Given the description of an element on the screen output the (x, y) to click on. 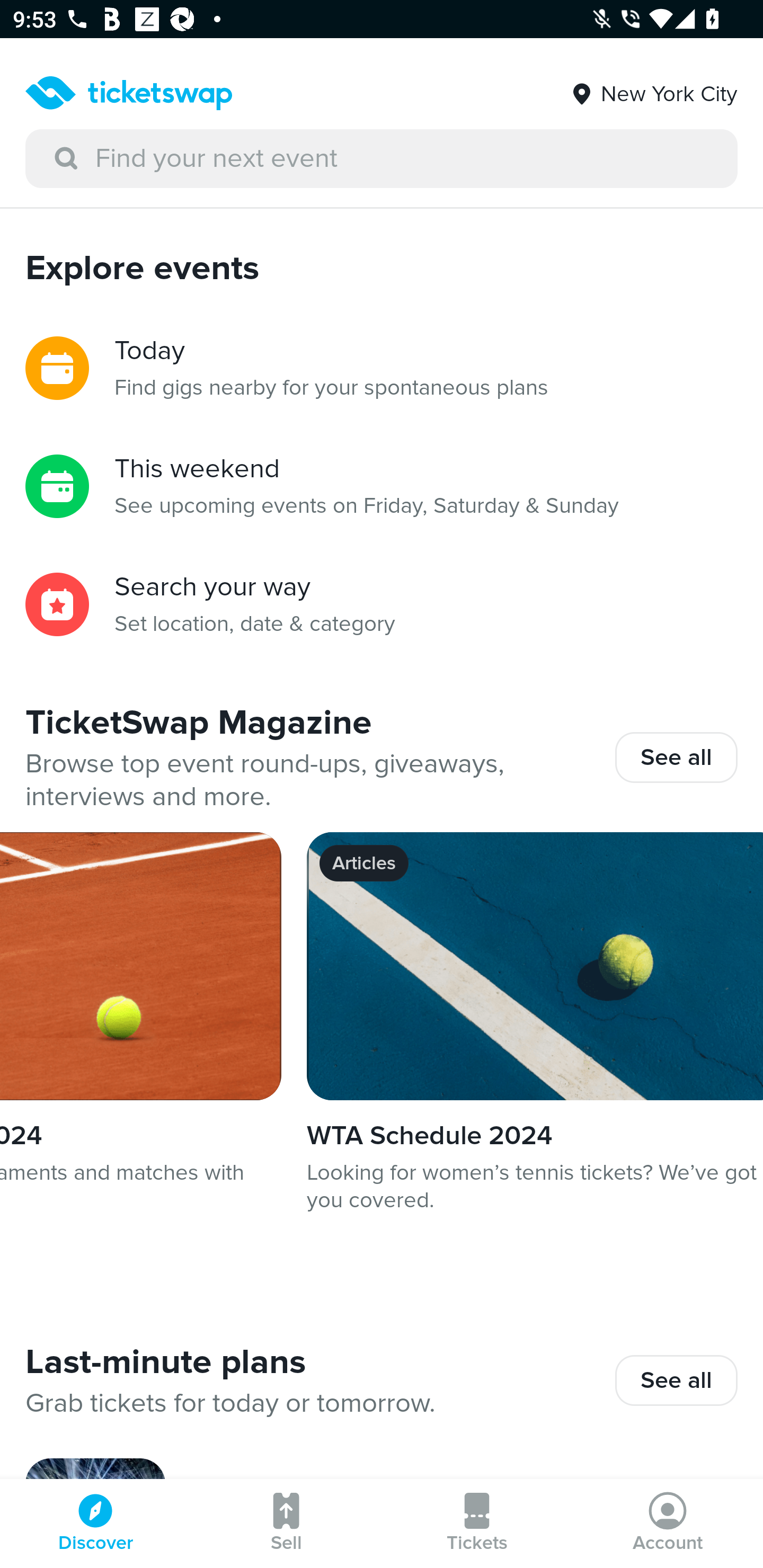
New York City (653, 87)
Find your next event (381, 158)
Today Find gigs nearby for your spontaneous plans (381, 367)
Search your way Set location, date & category (381, 604)
See all (675, 756)
See all (675, 1380)
Sell (285, 1523)
Tickets (476, 1523)
Account (667, 1523)
